Given the description of an element on the screen output the (x, y) to click on. 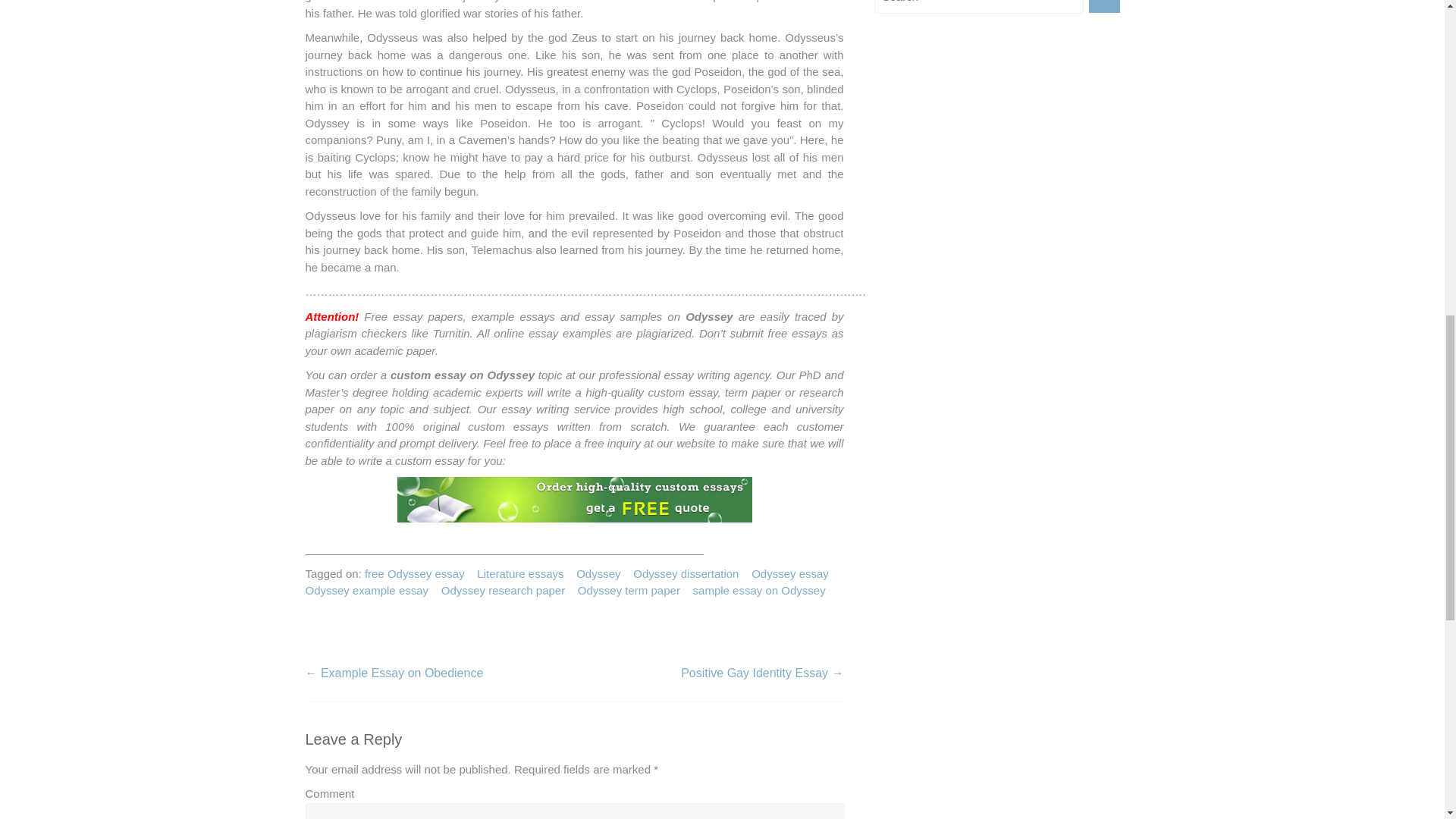
Free Inquiry for Custom Essay on Odyssey (574, 499)
free Odyssey essay (414, 574)
Odyssey essay (789, 574)
Odyssey term paper (628, 590)
Odyssey dissertation (685, 574)
Odyssey (598, 574)
Literature essays (520, 574)
Odyssey example essay (366, 590)
sample essay on Odyssey (759, 590)
Odyssey research paper (502, 590)
